Given the description of an element on the screen output the (x, y) to click on. 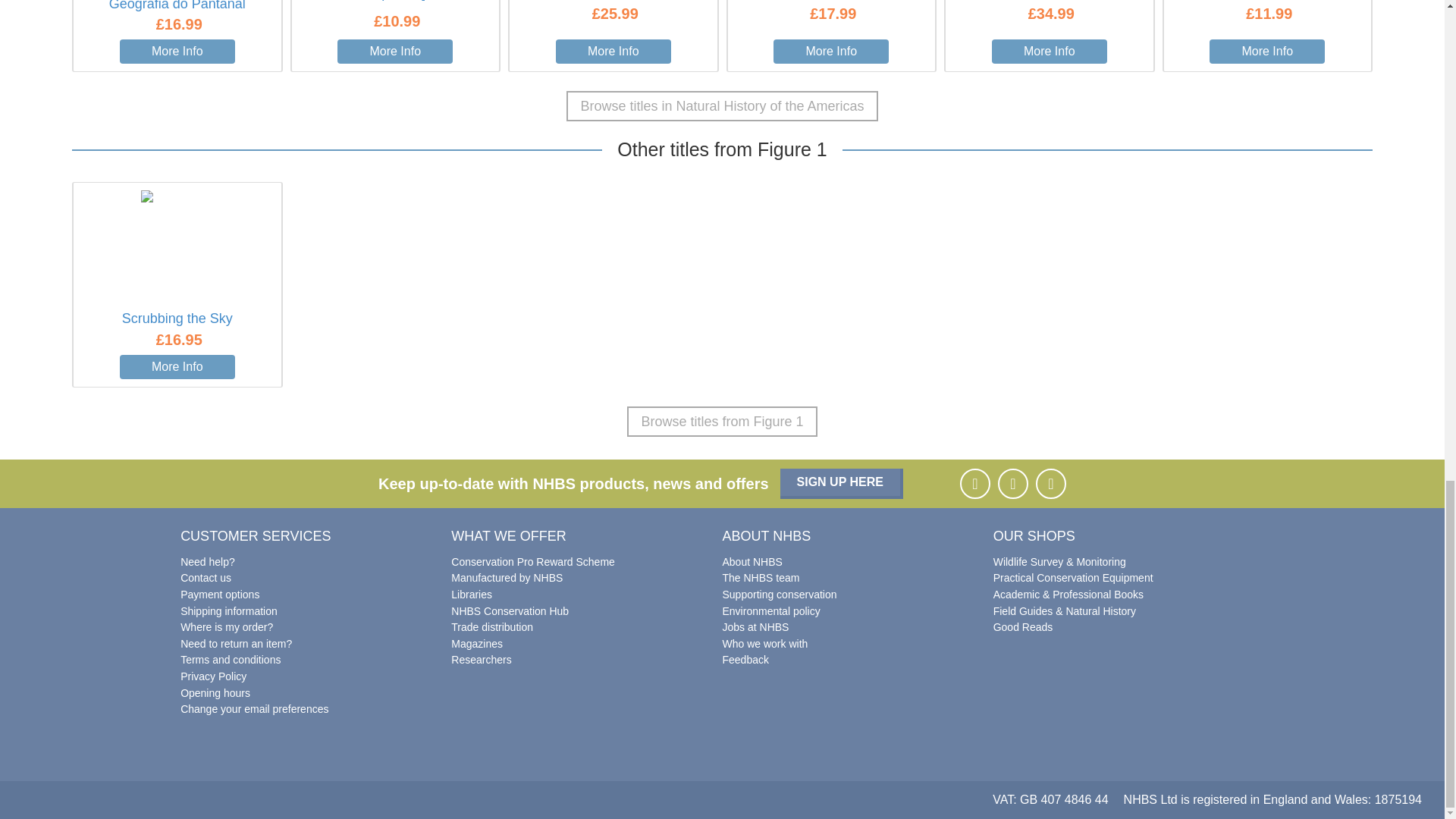
Sign up here (841, 483)
Follow us on Facebook (974, 483)
Follow us on Twitter (1050, 483)
Follow us on Instagram (1012, 483)
